Given the description of an element on the screen output the (x, y) to click on. 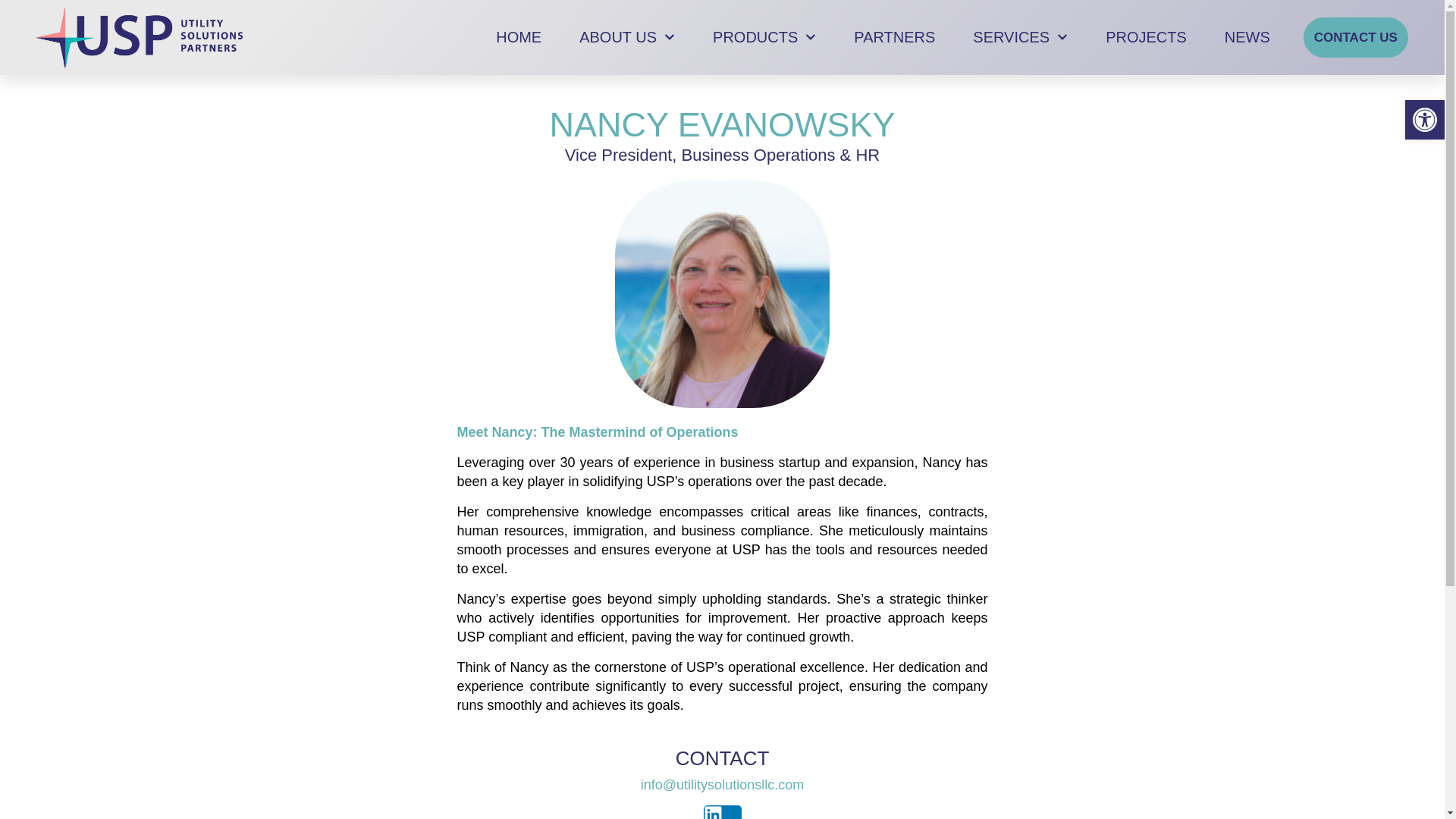
ABOUT US (627, 37)
PROJECTS (1145, 37)
Accessibility Tools (1424, 119)
PRODUCTS (764, 37)
SERVICES (1019, 37)
PARTNERS (893, 37)
